Given the description of an element on the screen output the (x, y) to click on. 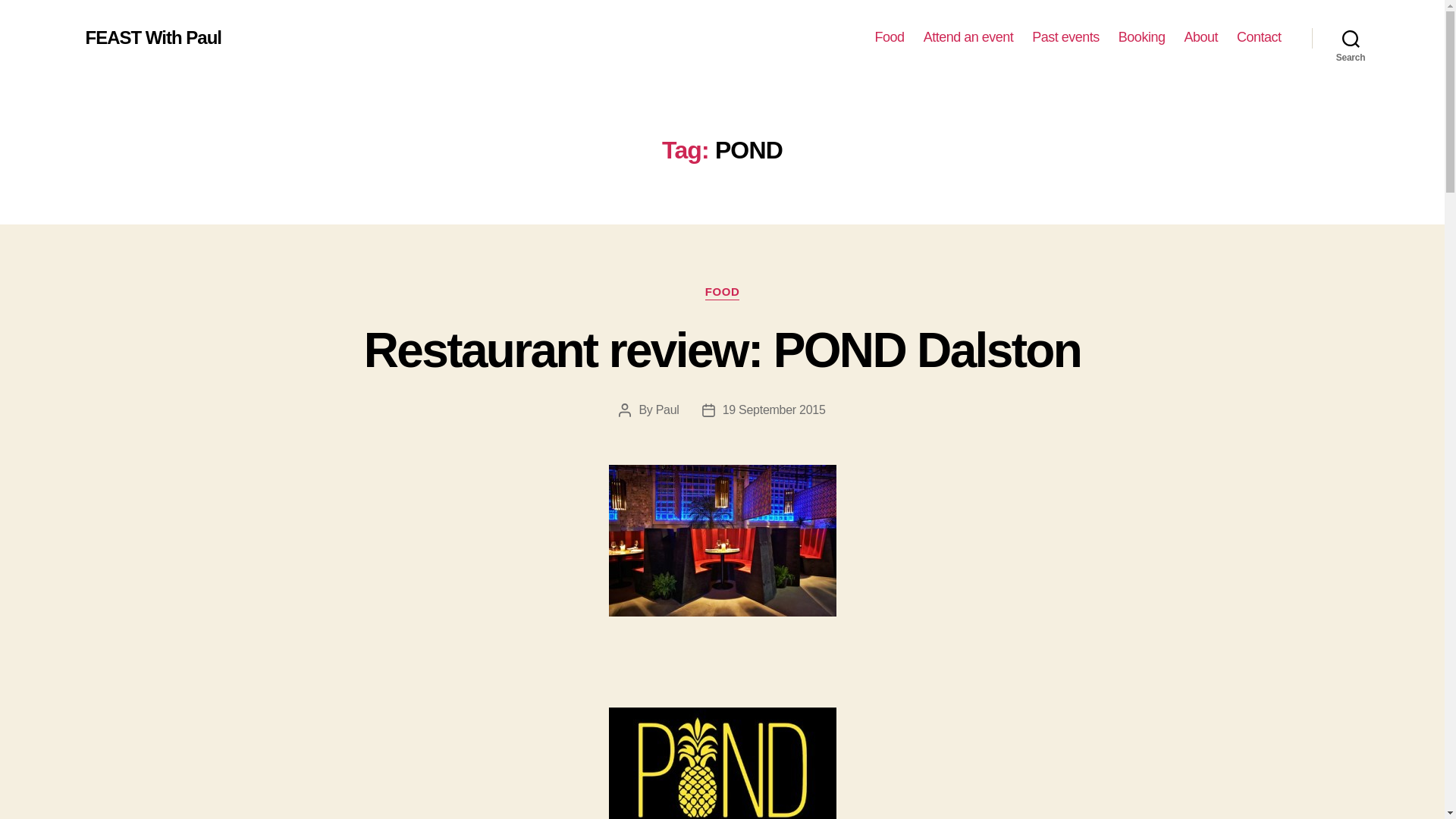
19 September 2015 (773, 409)
Past events (1065, 37)
Search (1350, 37)
FEAST With Paul (152, 37)
Attend an event (968, 37)
About (1200, 37)
Contact (1258, 37)
FOOD (721, 292)
Booking (1142, 37)
Restaurant review: POND Dalston (722, 349)
Paul (667, 409)
Food (889, 37)
Events (968, 37)
